Given the description of an element on the screen output the (x, y) to click on. 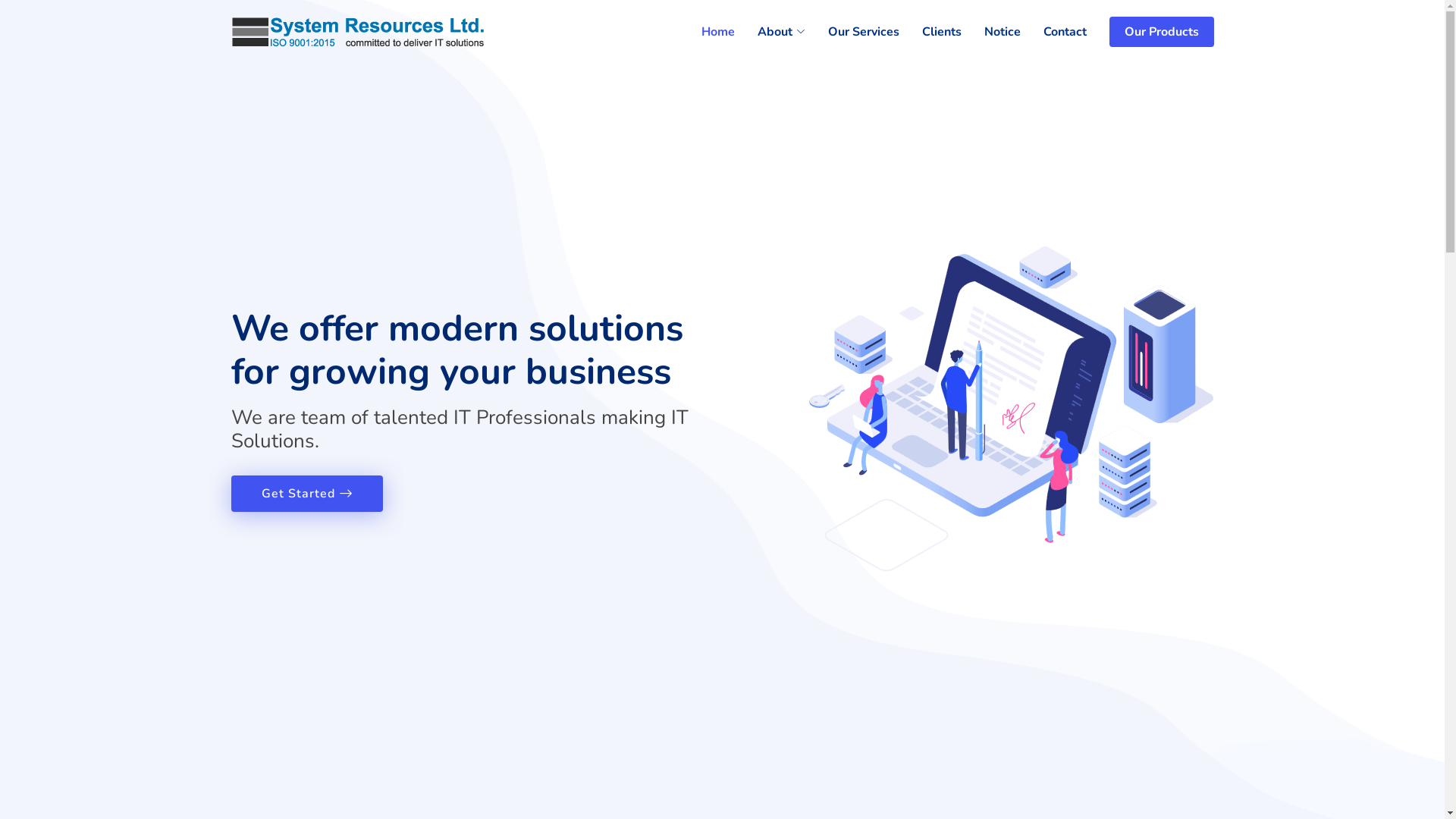
About Element type: text (769, 31)
Clients Element type: text (930, 31)
Get Started Element type: text (306, 493)
Our Products Element type: text (1160, 31)
Notice Element type: text (990, 31)
Our Services Element type: text (852, 31)
Home Element type: text (705, 31)
Contact Element type: text (1053, 31)
